Given the description of an element on the screen output the (x, y) to click on. 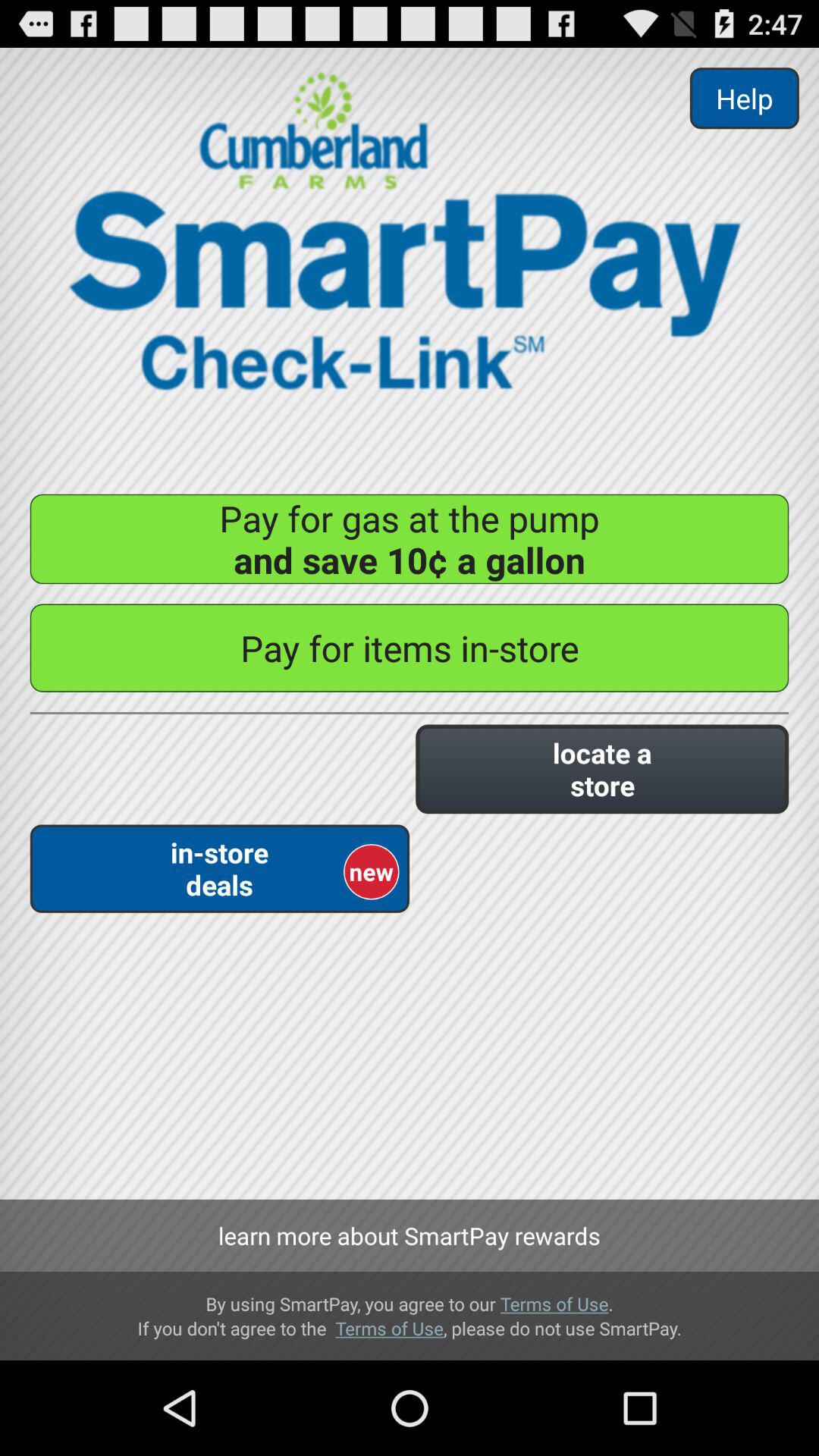
open the locate a
store item (601, 768)
